Given the description of an element on the screen output the (x, y) to click on. 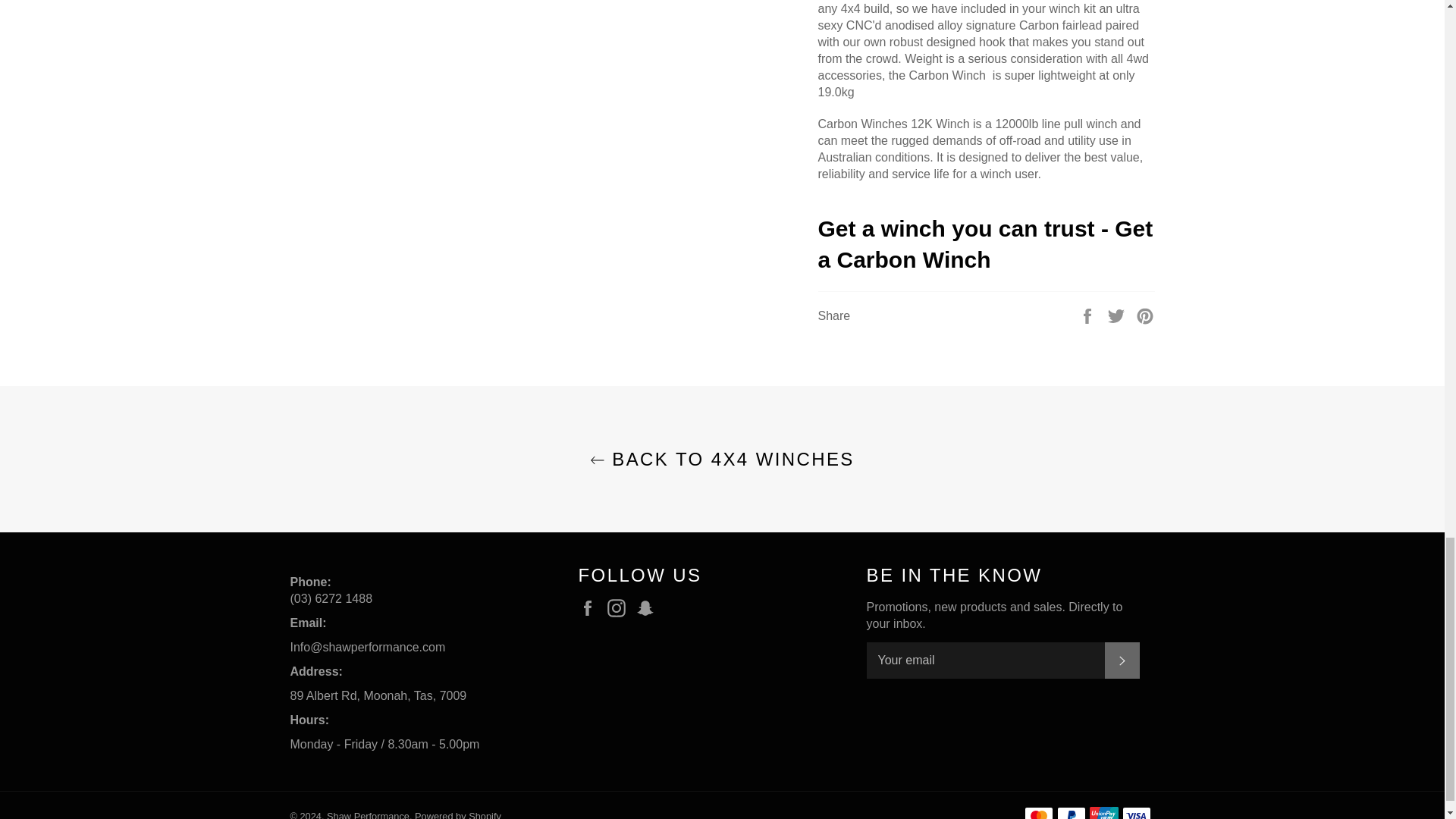
Snapchat (649, 607)
Pin on Pinterest (1144, 314)
Tweet on Twitter (1117, 314)
Shaw Performance (367, 814)
Share on Facebook (1088, 314)
BACK TO 4X4 WINCHES (721, 458)
Pin on Pinterest (1144, 314)
Tweet on Twitter (1117, 314)
SUBSCRIBE (1120, 660)
Shaw Performance on Snapchat (649, 607)
Facebook (591, 607)
Instagram (620, 607)
Shaw Performance on Facebook (591, 607)
Share on Facebook (1088, 314)
Shaw Performance on Instagram (620, 607)
